Given the description of an element on the screen output the (x, y) to click on. 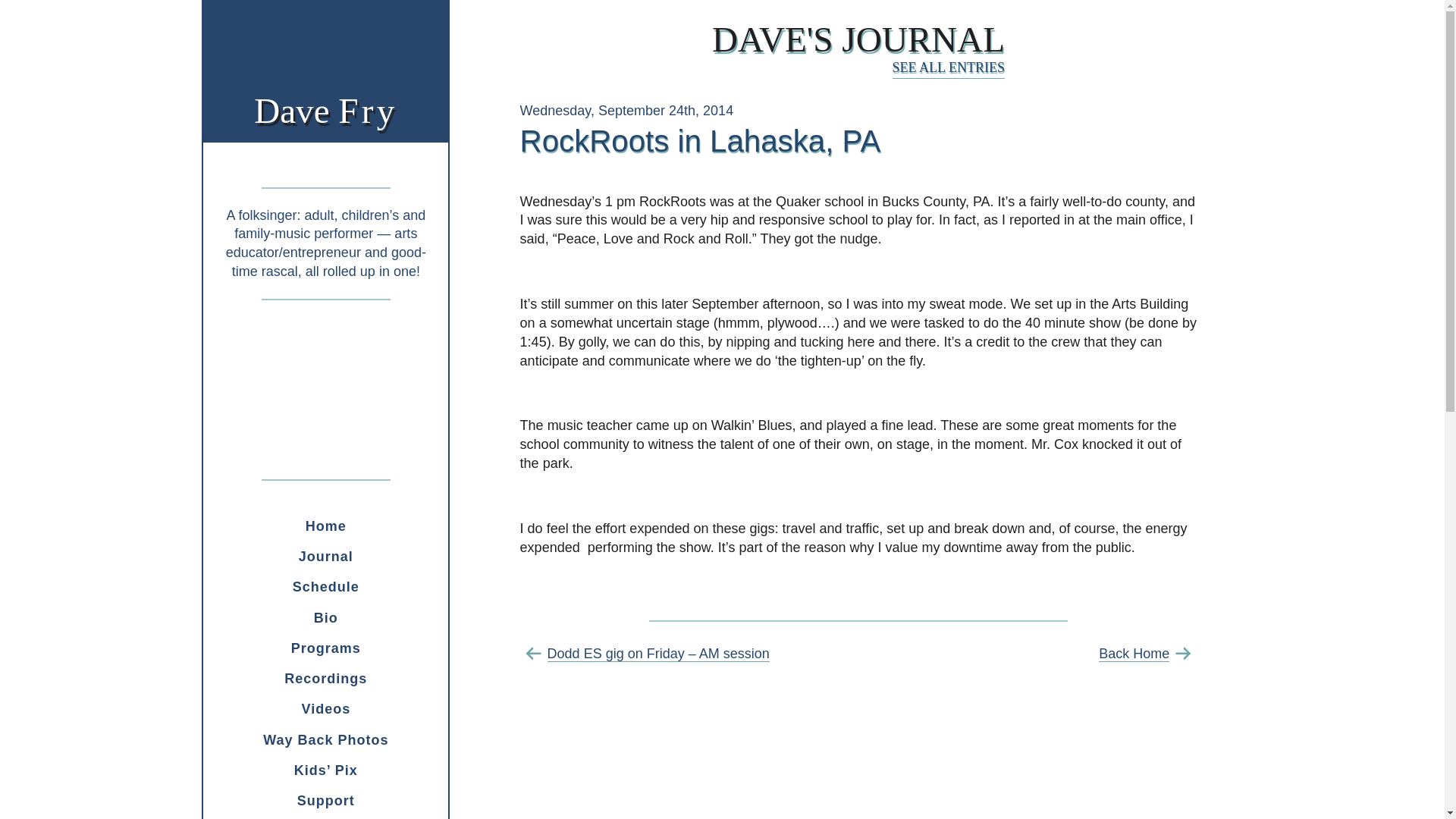
Contact (325, 817)
Journal (857, 39)
Videos (325, 556)
Dave Fry (325, 708)
Programs (325, 110)
Support (325, 648)
Schedule (325, 800)
Recordings (325, 586)
Home (325, 678)
Bio (325, 526)
Way Back Photos (325, 617)
